Given the description of an element on the screen output the (x, y) to click on. 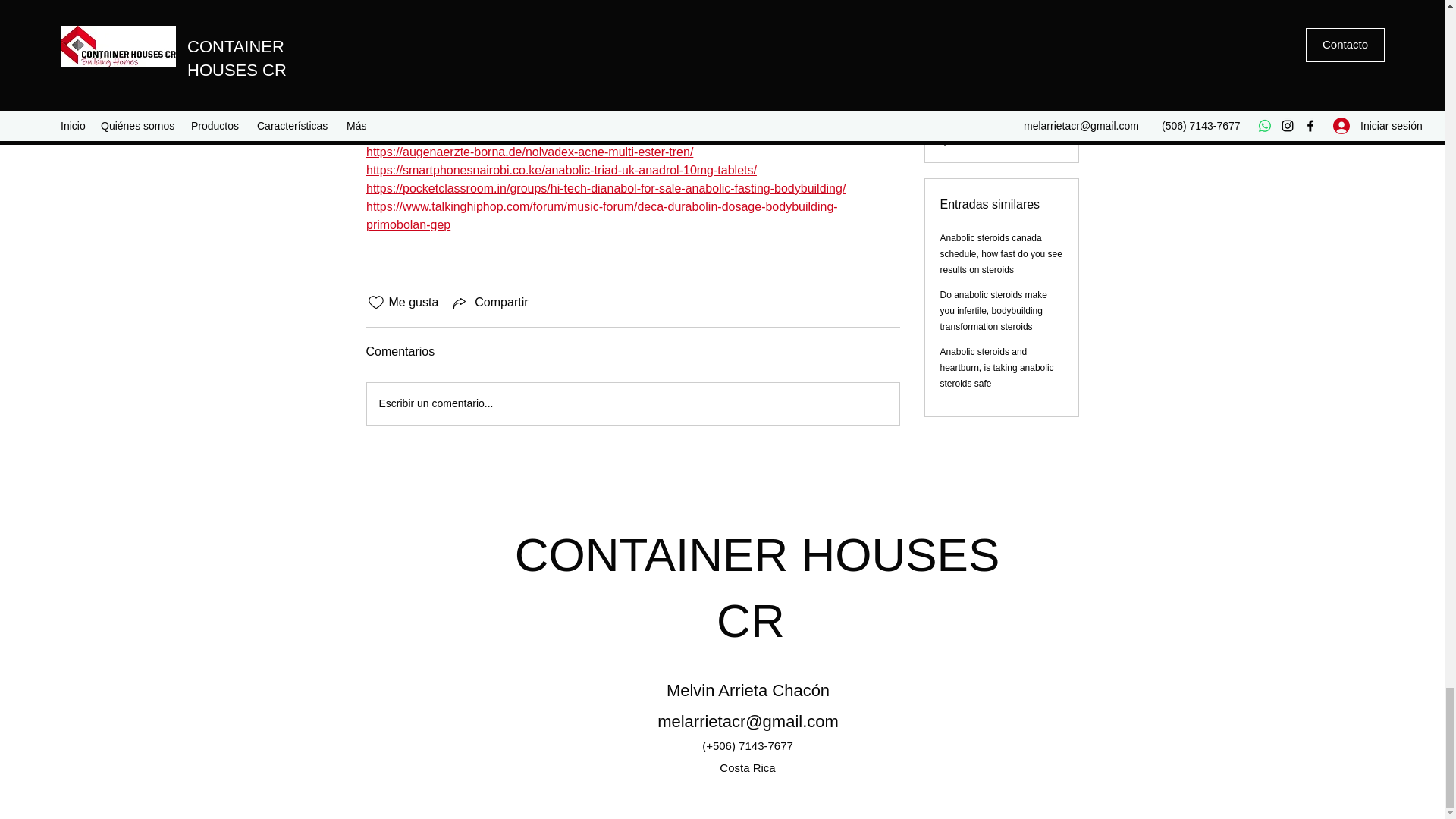
Compartir (488, 302)
Escribir un comentario... (632, 404)
CONTAINER HOUSES CR  (757, 587)
